Given the description of an element on the screen output the (x, y) to click on. 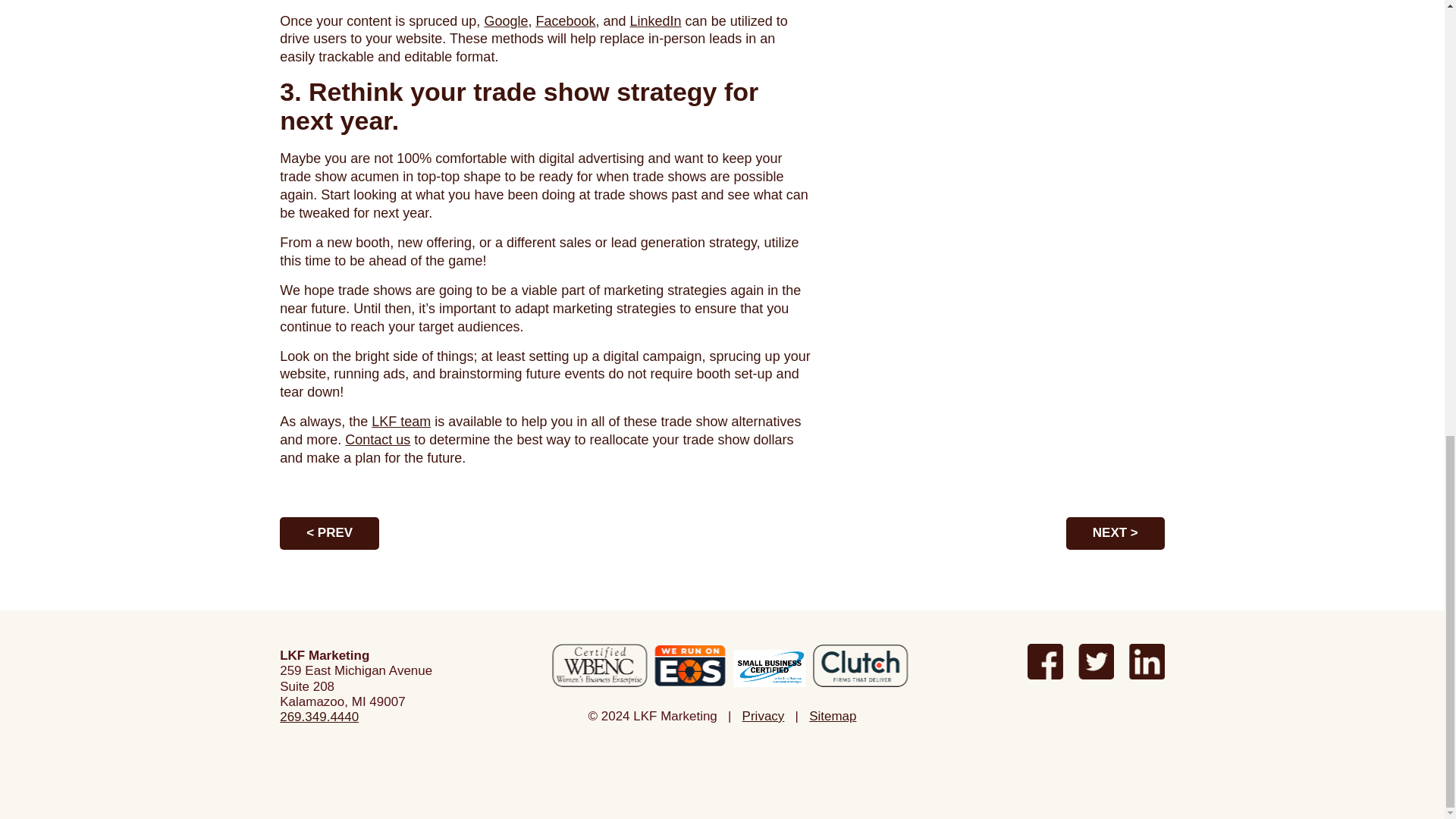
Follow LKF on Twitter (1095, 661)
LKF team (400, 421)
Sitemap (832, 716)
LinkedIn (655, 20)
Facebook (565, 20)
Follow LKF on Linkedin (1146, 661)
Follow LKF on Facebook (1044, 661)
Privacy (763, 716)
Read about our Privacy Policy (763, 716)
Google (505, 20)
